Given the description of an element on the screen output the (x, y) to click on. 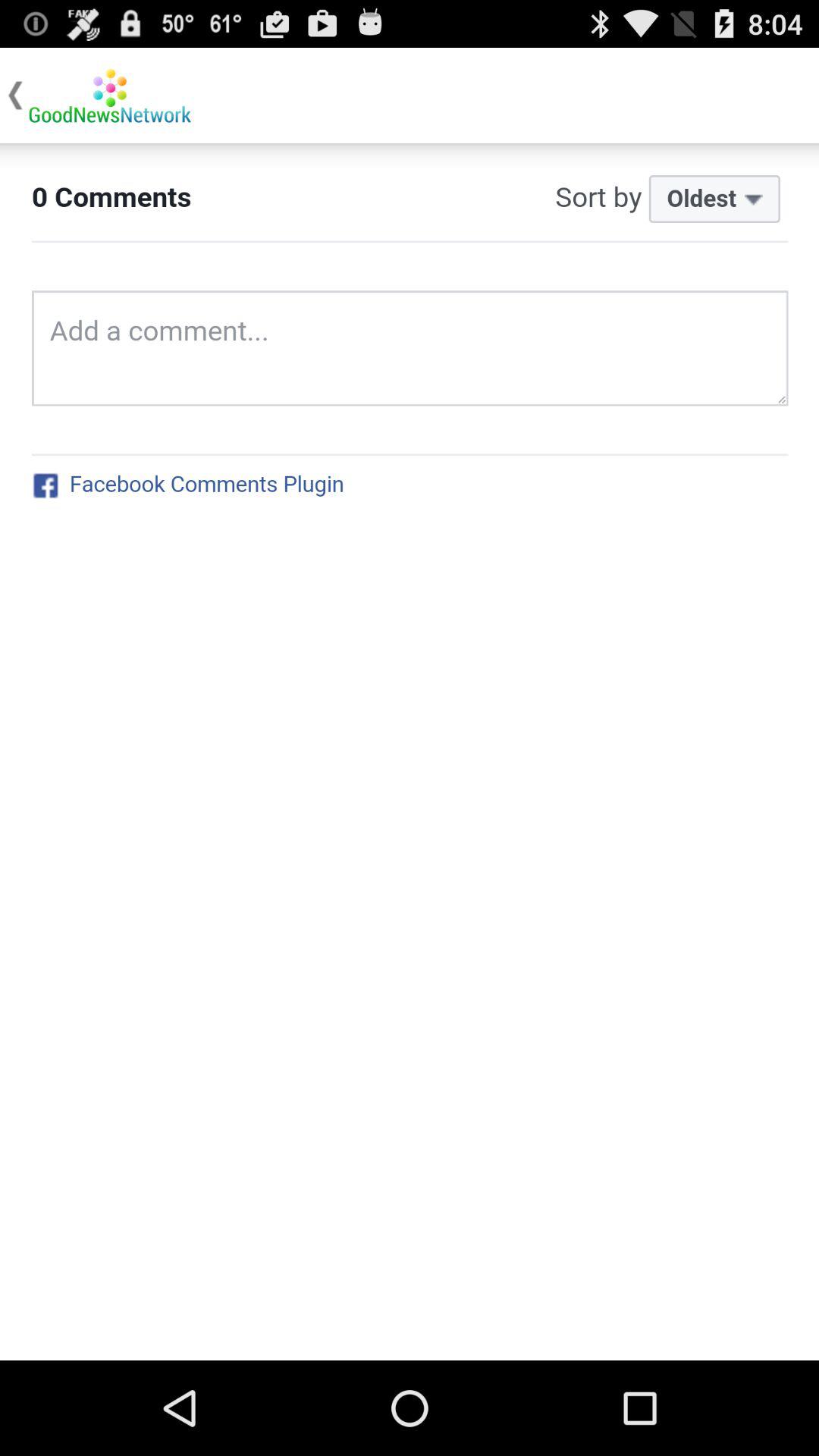
text box to enter comment (409, 751)
